Given the description of an element on the screen output the (x, y) to click on. 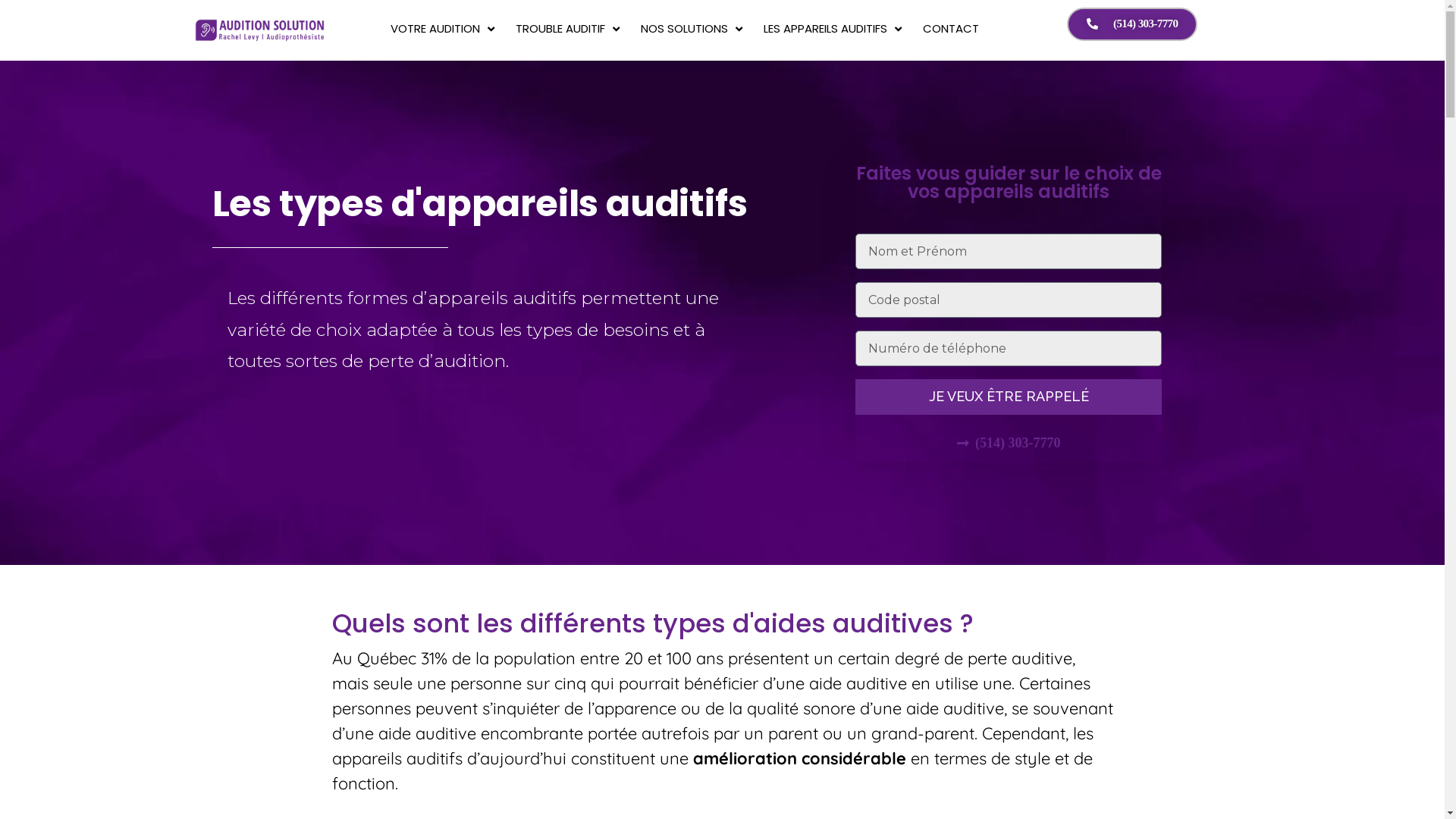
(514) 303-7770 Element type: text (1132, 23)
(514) 303-7770 Element type: text (1008, 442)
VOTRE AUDITION Element type: text (442, 28)
NOS SOLUTIONS Element type: text (691, 28)
CONTACT Element type: text (950, 28)
LES APPAREILS AUDITIFS Element type: text (832, 28)
TROUBLE AUDITIF Element type: text (567, 28)
